Given the description of an element on the screen output the (x, y) to click on. 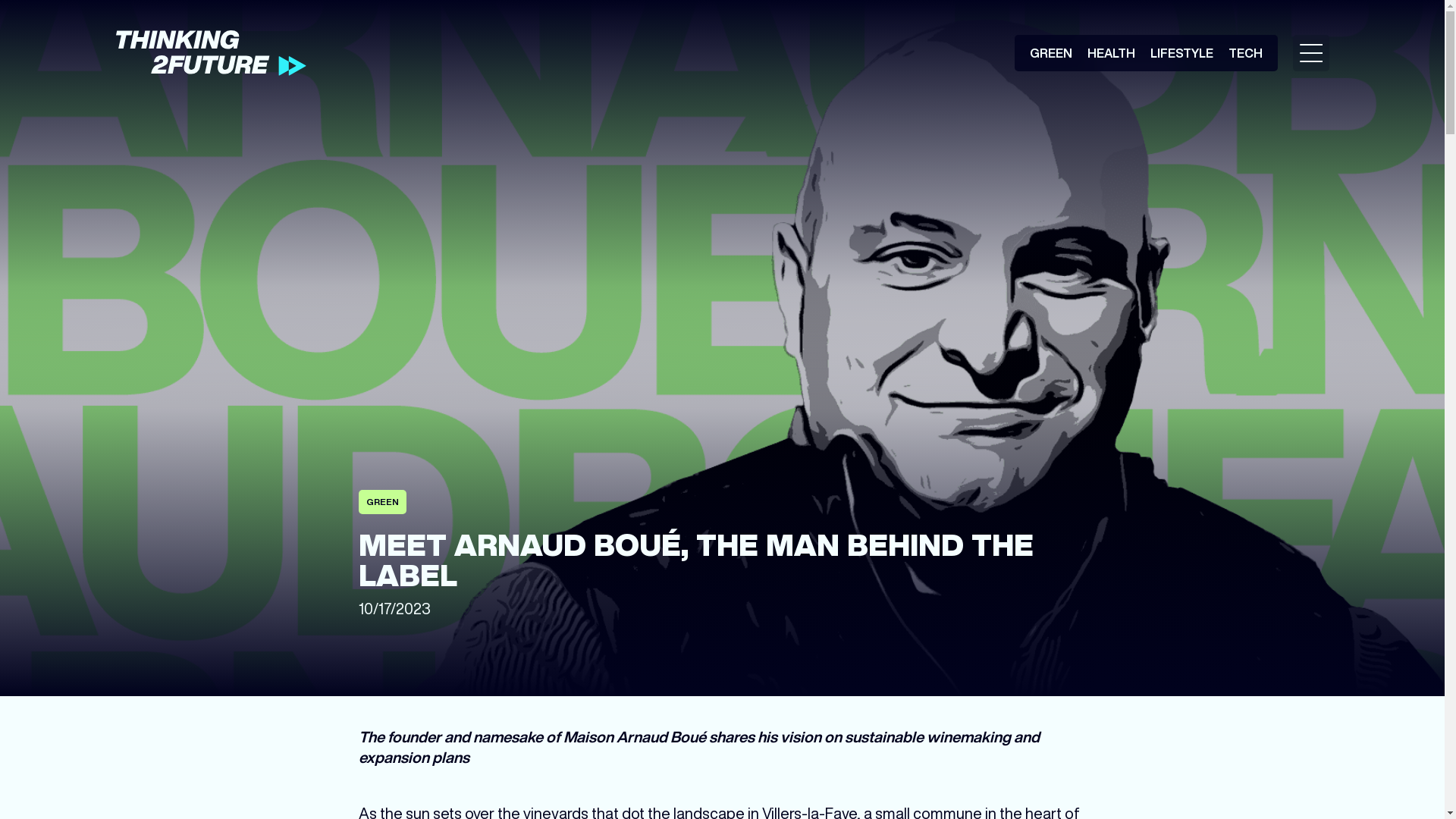
TECH Element type: text (1245, 53)
LIFESTYLE Element type: text (1180, 53)
GREEN Element type: text (1050, 53)
HEALTH Element type: text (1111, 53)
